Given the description of an element on the screen output the (x, y) to click on. 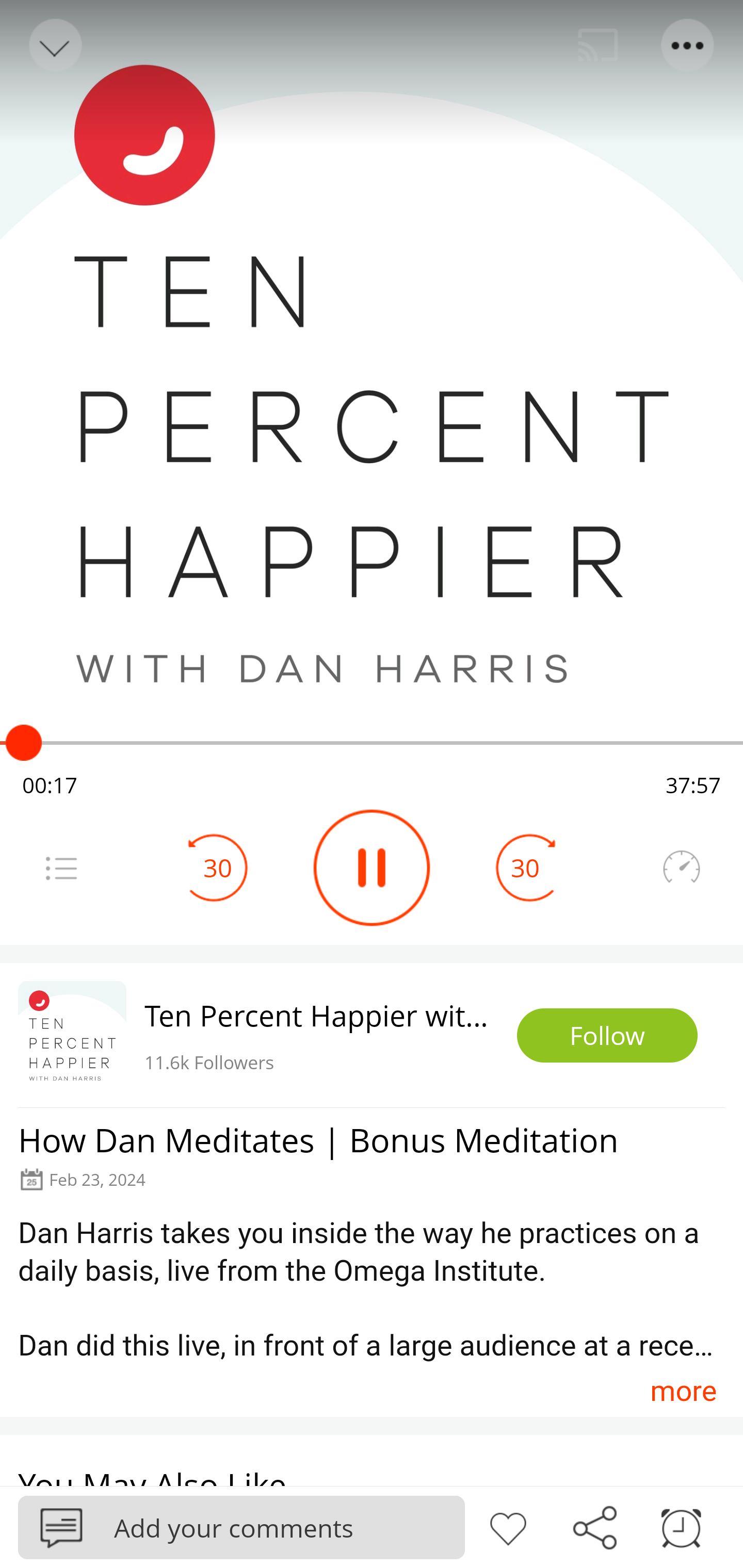
Back (53, 45)
Cast. Disconnected (597, 45)
Menu (688, 45)
Play (371, 867)
30 Seek Backward (217, 867)
30 Seek Forward (525, 867)
Menu (60, 867)
Speedometer (681, 867)
Follow (607, 1035)
more (682, 1390)
Like (508, 1526)
Share (594, 1526)
Sleep timer (681, 1526)
Podbean Add your comments (241, 1526)
